Given the description of an element on the screen output the (x, y) to click on. 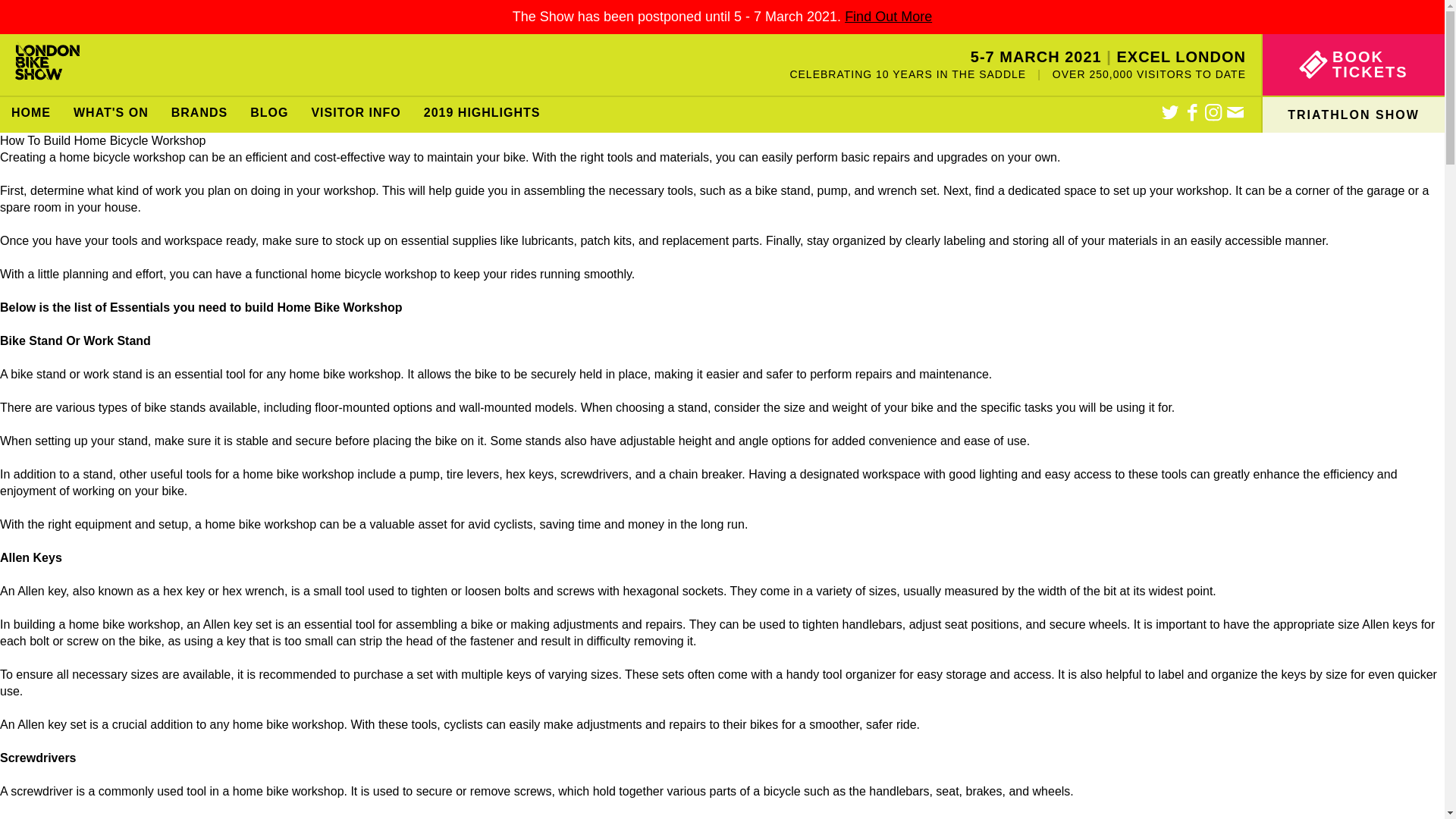
Find Out More (887, 16)
BRANDS (199, 114)
VISITOR INFO (355, 114)
WHAT'S ON (111, 114)
2019 HIGHLIGHTS (481, 114)
HOME (31, 114)
BLOG (268, 114)
